Given the description of an element on the screen output the (x, y) to click on. 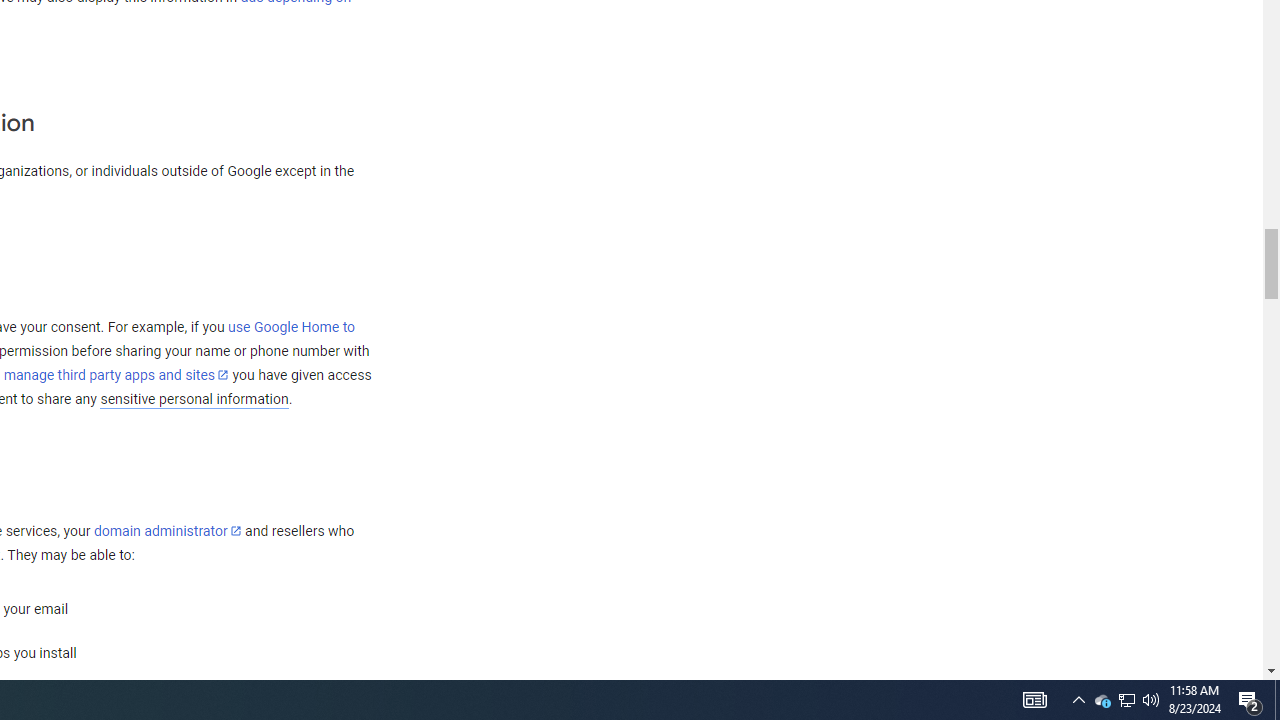
sensitive personal information (194, 399)
domain administrator (167, 531)
